Given the description of an element on the screen output the (x, y) to click on. 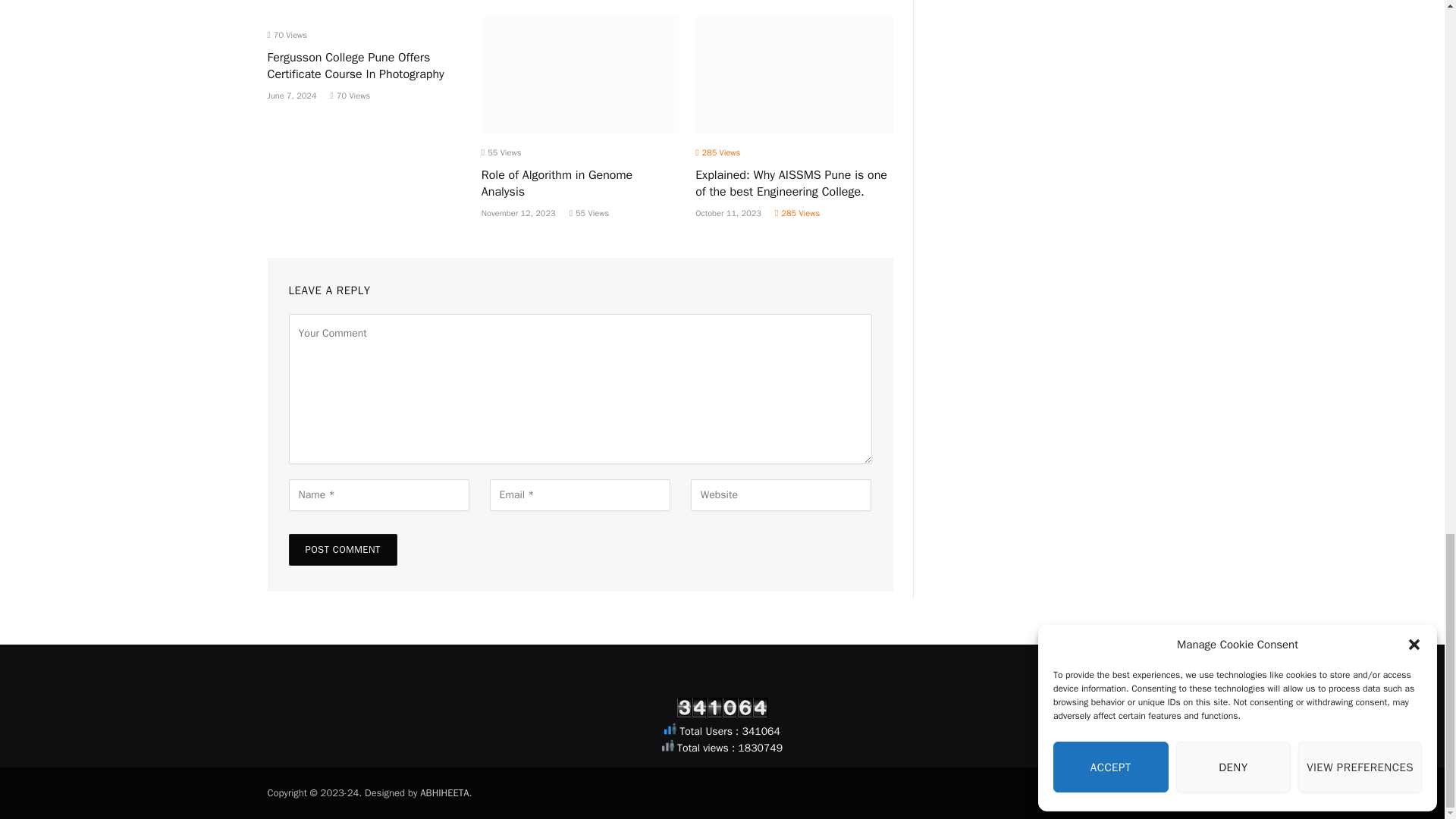
Post Comment (342, 549)
